Given the description of an element on the screen output the (x, y) to click on. 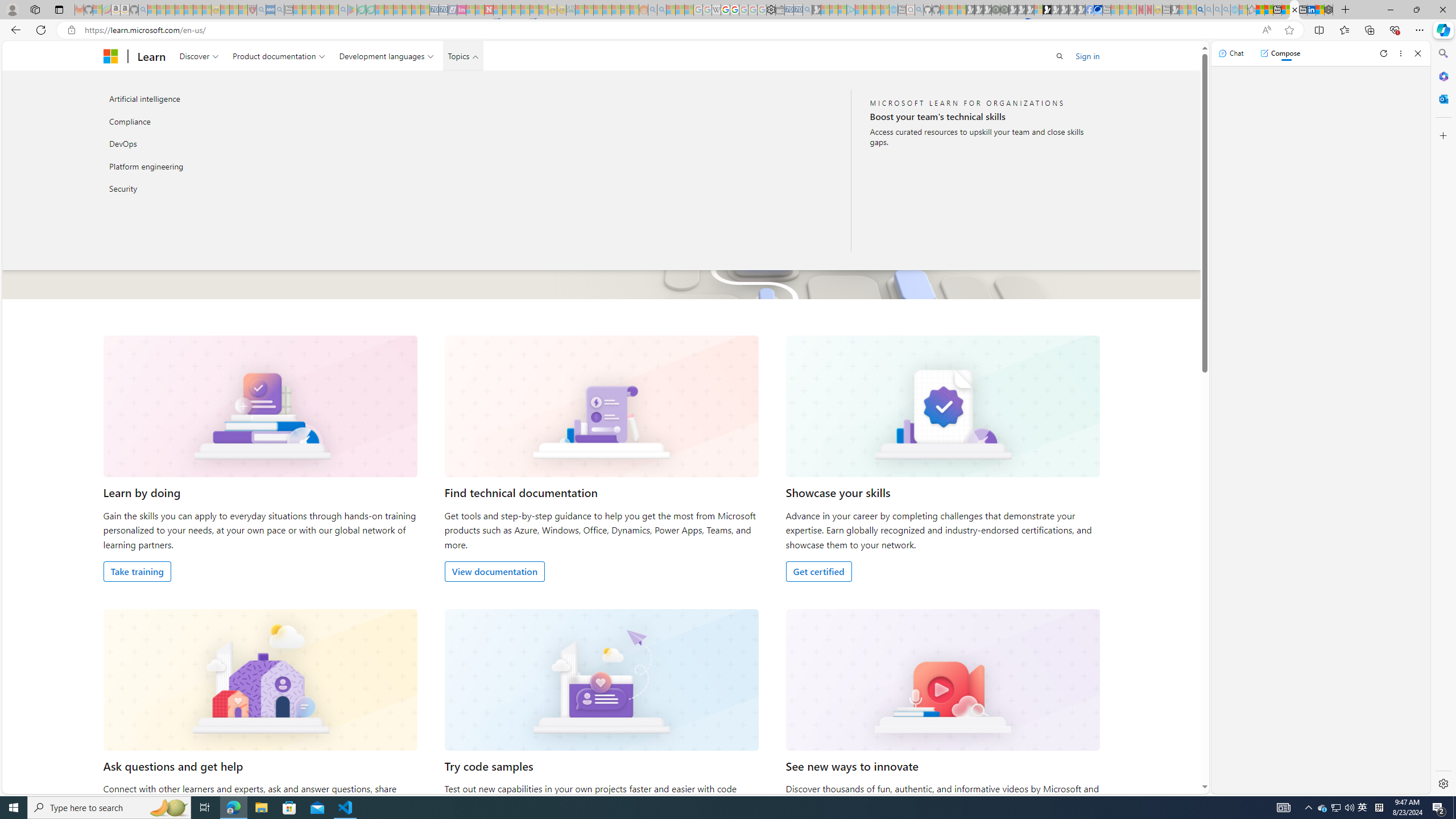
Product documentation (278, 55)
